Given the description of an element on the screen output the (x, y) to click on. 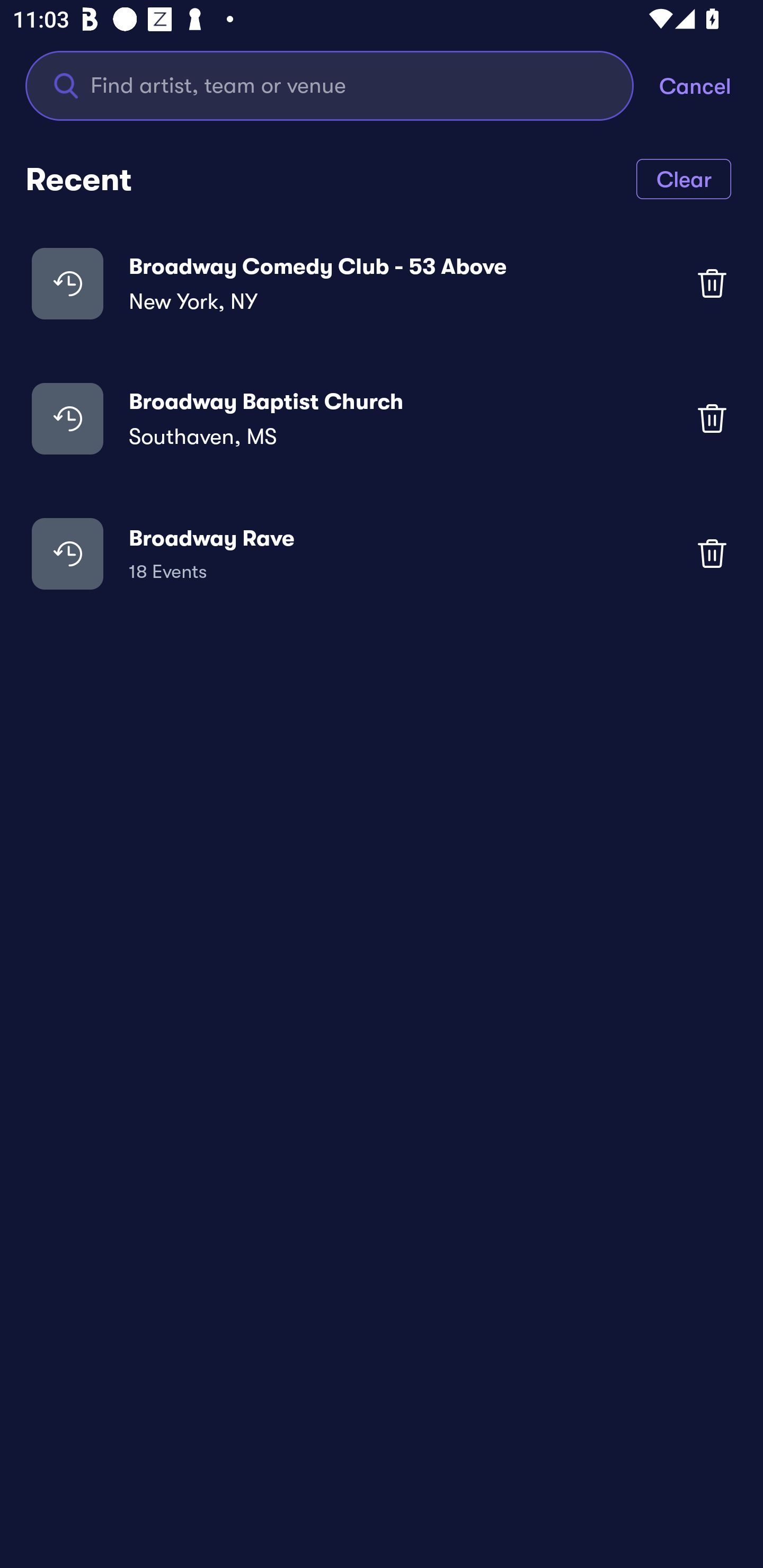
Cancel (711, 85)
Find artist, team or venue Find (329, 85)
Find artist, team or venue Find (341, 85)
Clear (683, 178)
Broadway Comedy Club - 53 Above New York, NY (381, 282)
Broadway Baptist Church Southaven, MS (381, 417)
Broadway Rave 18 Events (381, 553)
